Given the description of an element on the screen output the (x, y) to click on. 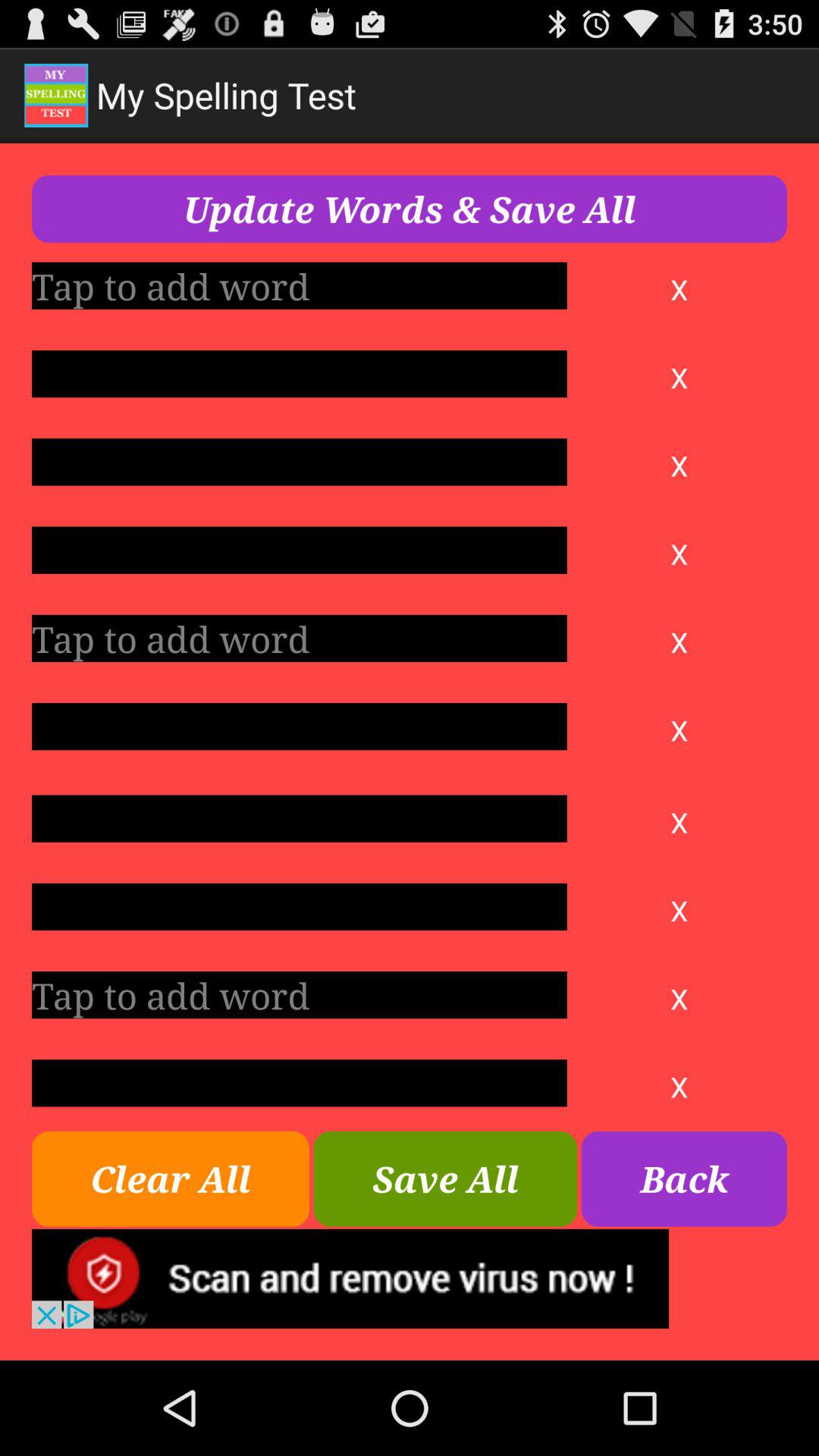
tap to add word (299, 1082)
